Given the description of an element on the screen output the (x, y) to click on. 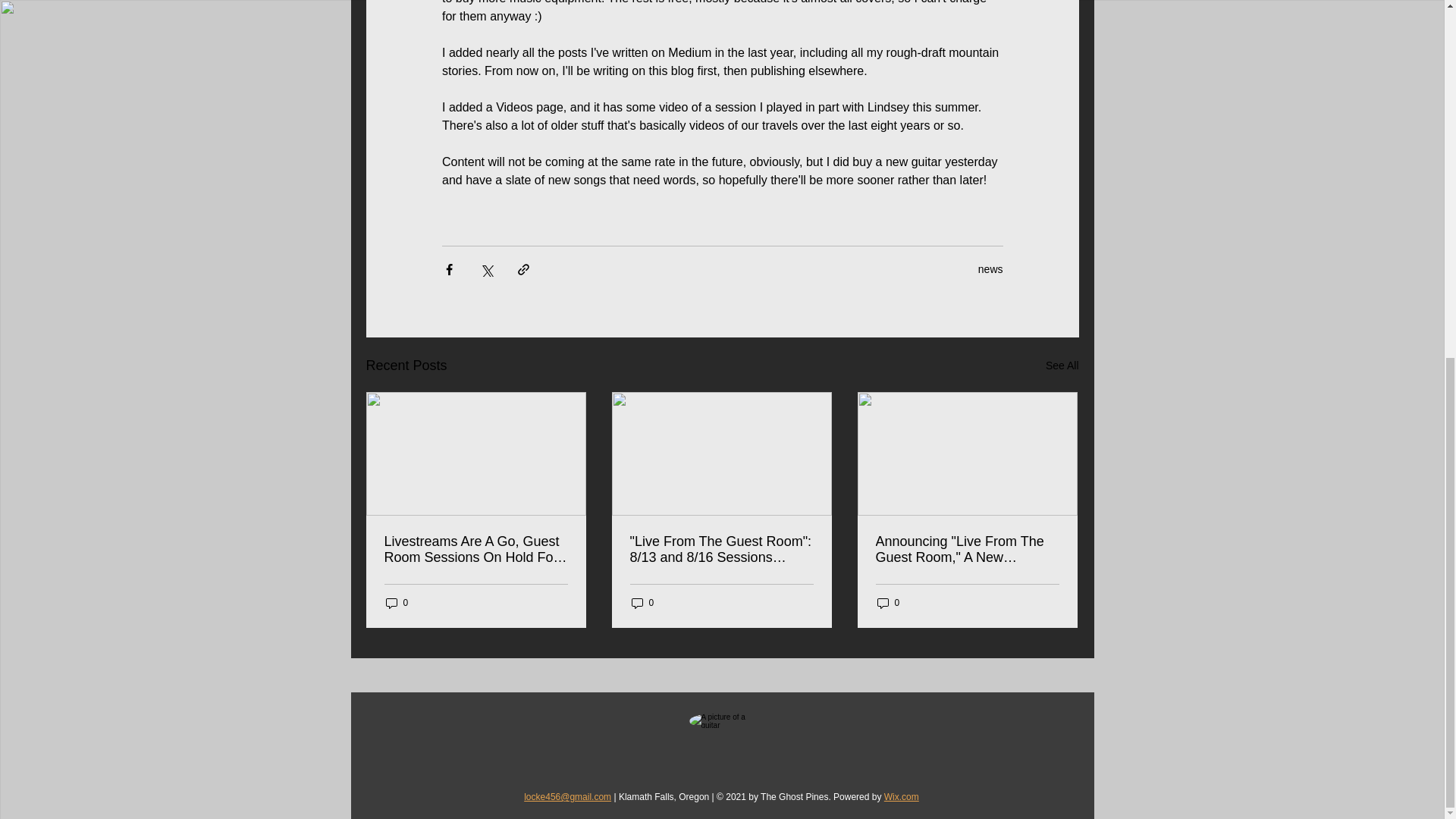
0 (396, 603)
Livestreams Are A Go, Guest Room Sessions On Hold For Now (475, 549)
0 (641, 603)
news (990, 268)
0 (888, 603)
See All (1061, 365)
Wix.com (900, 796)
